Given the description of an element on the screen output the (x, y) to click on. 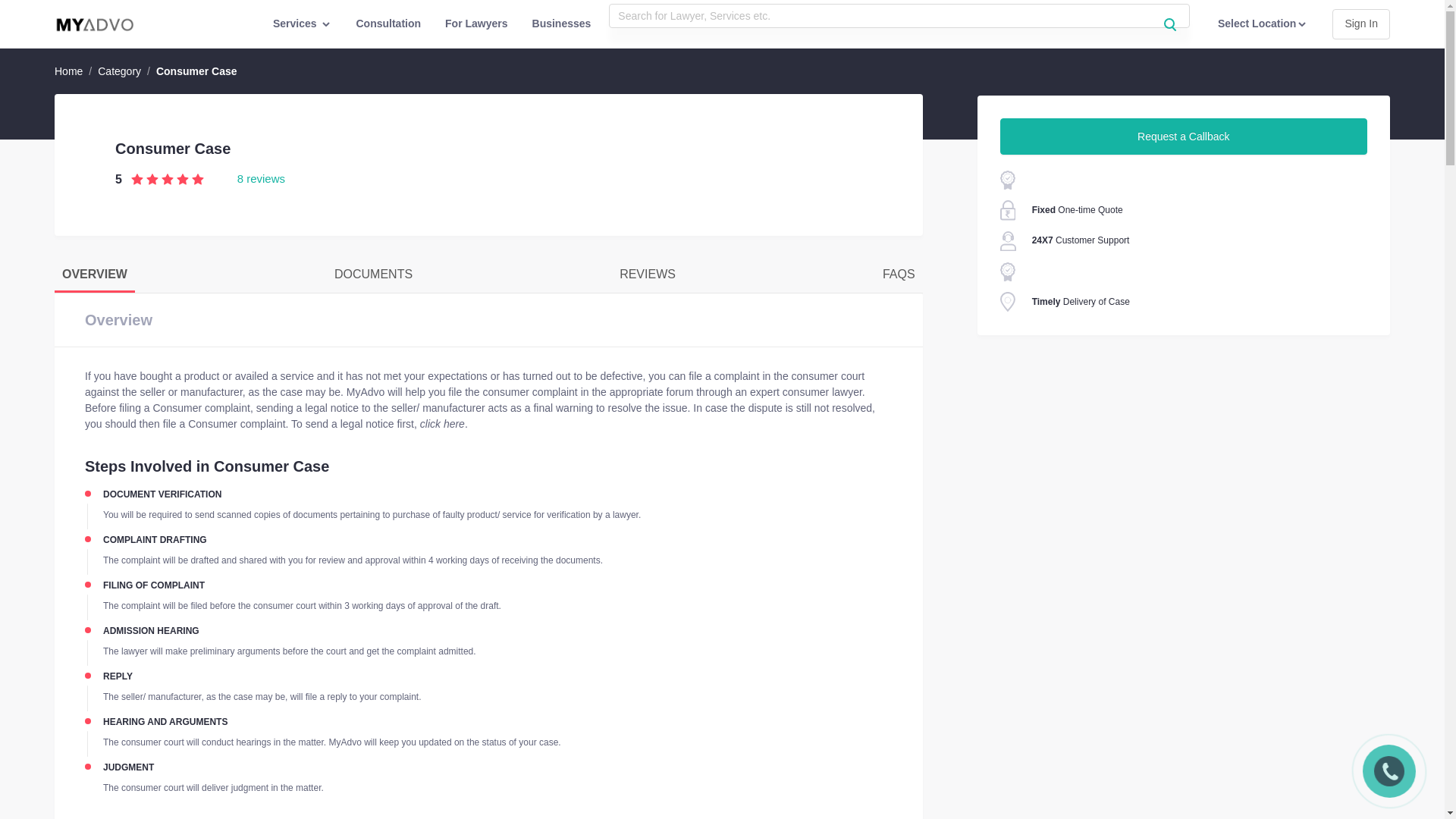
Sign In (1361, 24)
Consumer Case (196, 70)
Category (119, 70)
Businesses (561, 23)
Request a Callback (1183, 135)
For Lawyers (475, 23)
Home (68, 70)
